Given the description of an element on the screen output the (x, y) to click on. 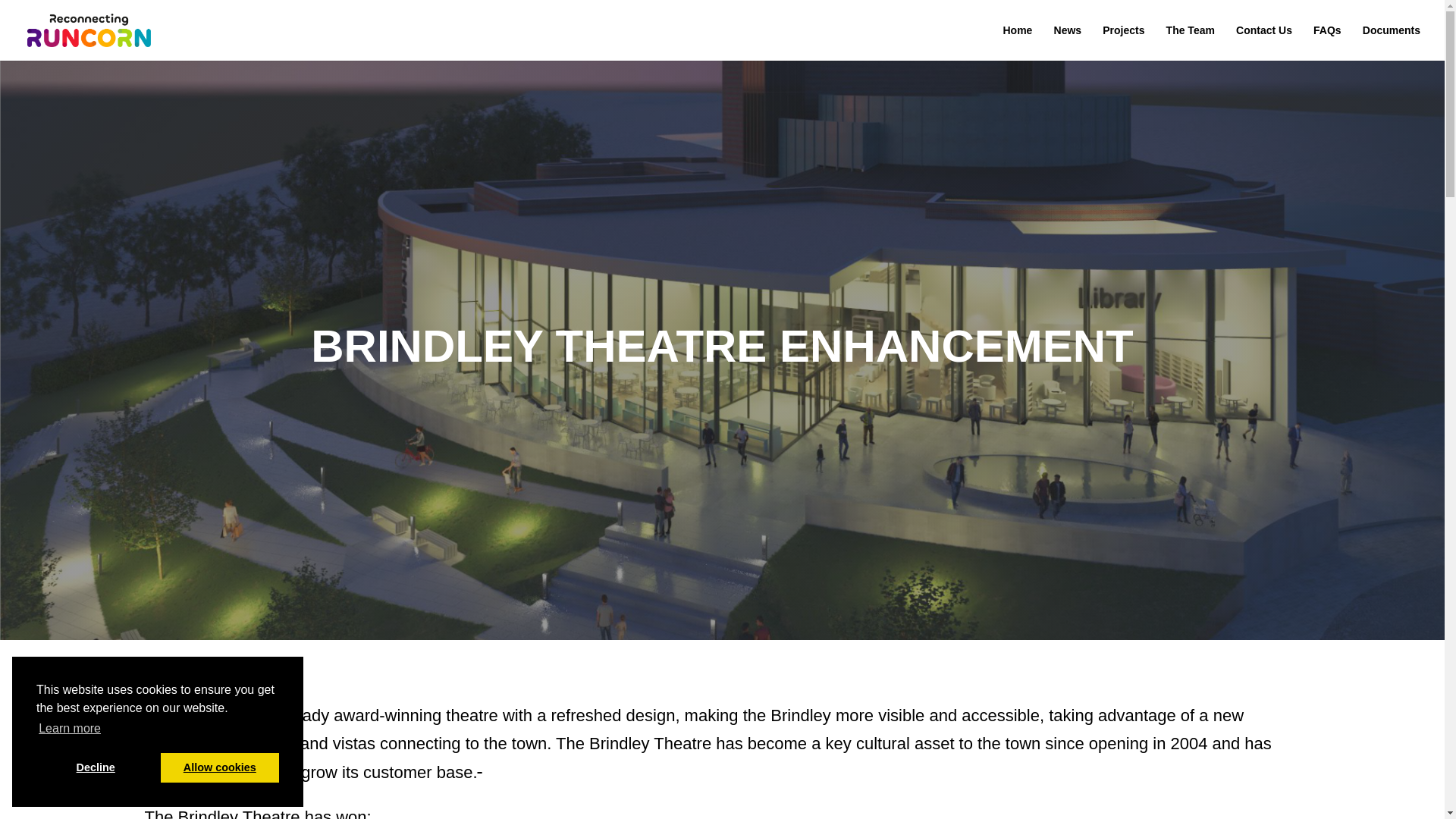
Home (1017, 42)
Allow cookies (219, 767)
Projects (1123, 42)
Decline (95, 767)
Learn more (69, 728)
FAQs (1326, 42)
Contact Us (1264, 42)
The Team (1190, 42)
News (1067, 42)
Documents (1391, 42)
